Given the description of an element on the screen output the (x, y) to click on. 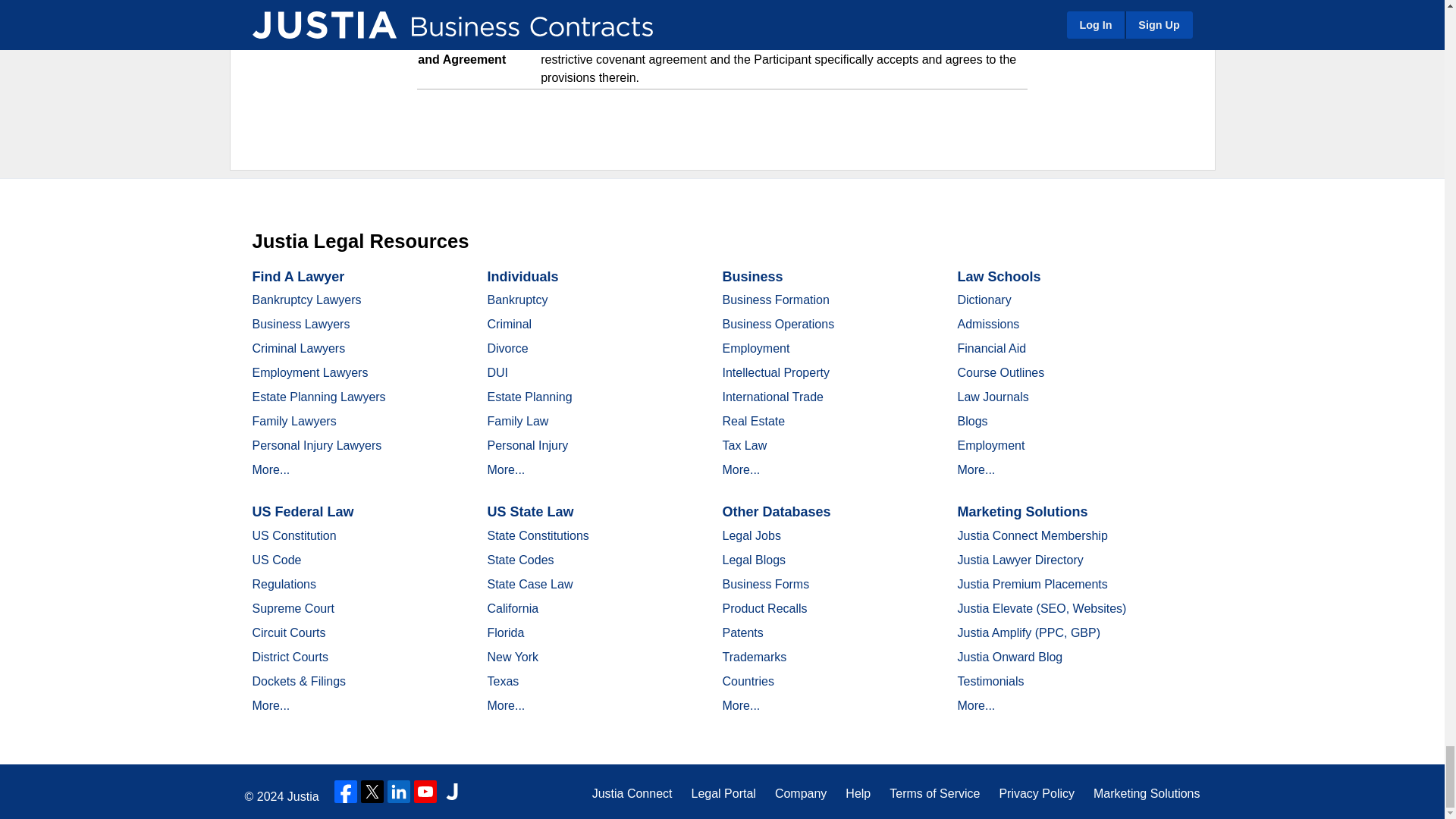
More... (270, 469)
Find A Lawyer (297, 276)
LinkedIn (398, 791)
YouTube (424, 791)
Justia Lawyer Directory (452, 791)
Business Lawyers (300, 323)
Personal Injury Lawyers (316, 445)
Facebook (345, 791)
Bankruptcy Lawyers (306, 299)
Family Lawyers (293, 420)
Estate Planning Lawyers (318, 396)
Employment Lawyers (309, 372)
Twitter (372, 791)
Criminal Lawyers (298, 348)
